Given the description of an element on the screen output the (x, y) to click on. 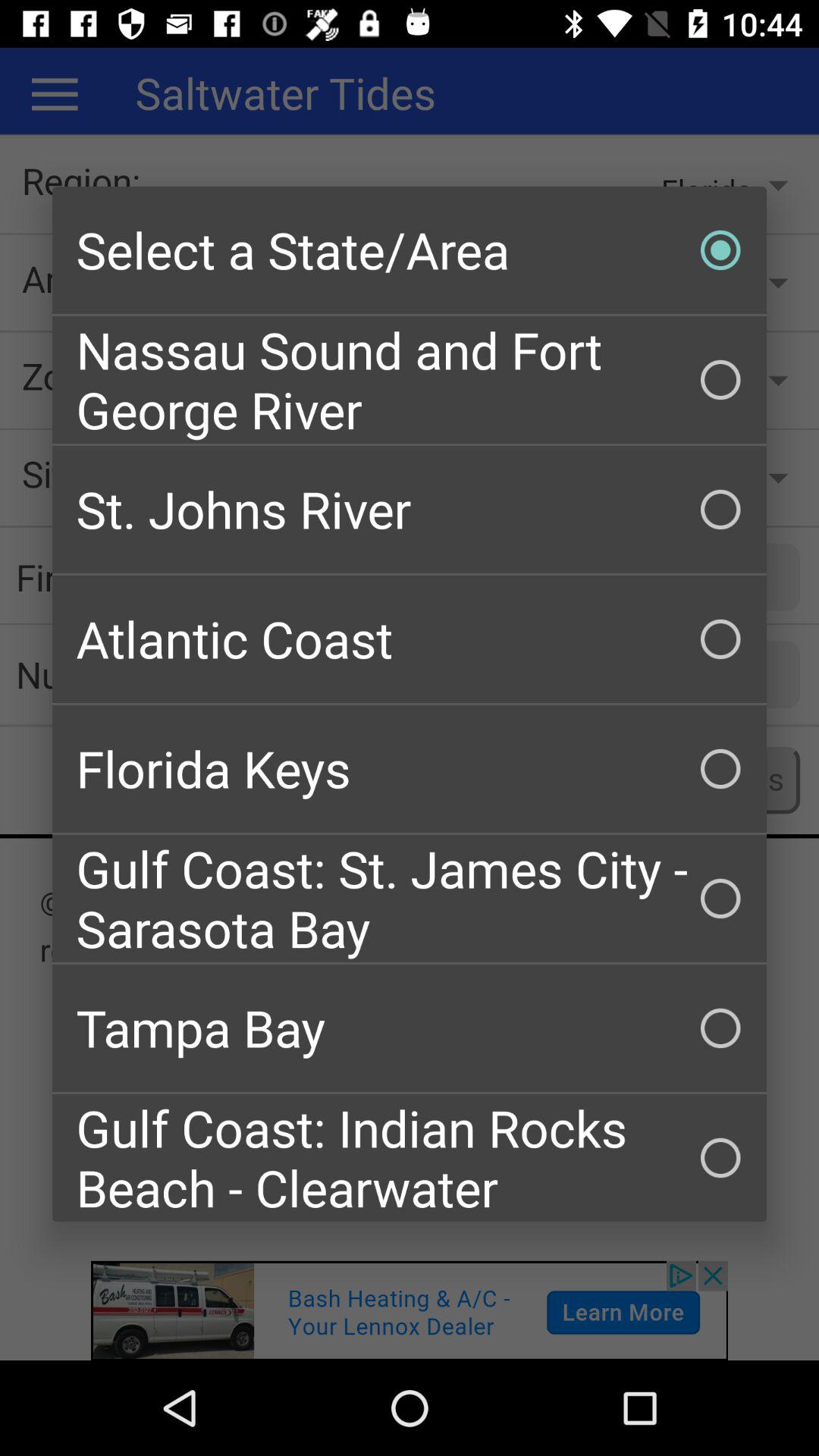
scroll until the nassau sound and item (409, 379)
